Given the description of an element on the screen output the (x, y) to click on. 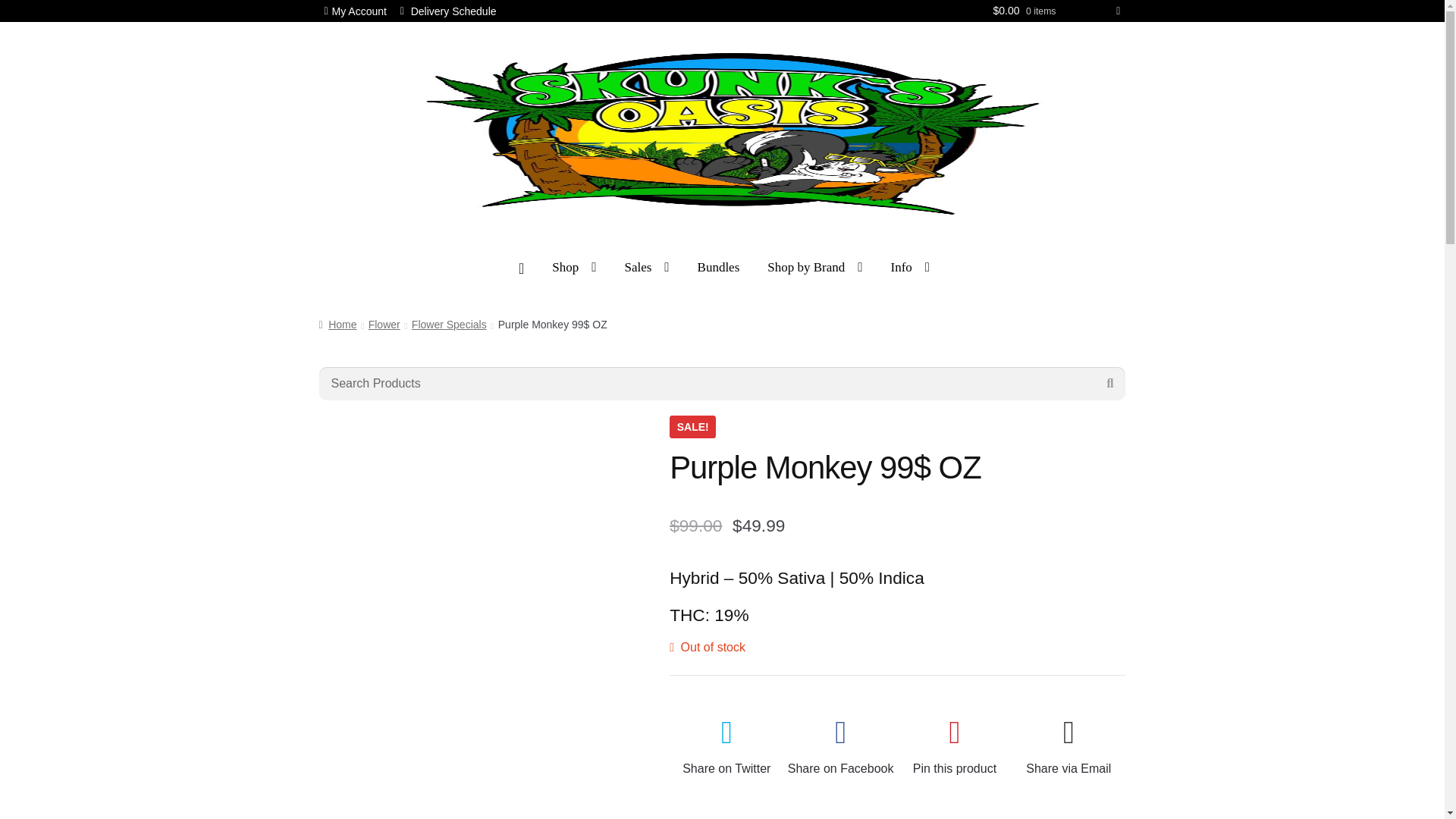
Search for: (721, 383)
Shop (573, 266)
Delivery Schedule (448, 11)
My Account (354, 11)
View your shopping cart (1056, 10)
